Given the description of an element on the screen output the (x, y) to click on. 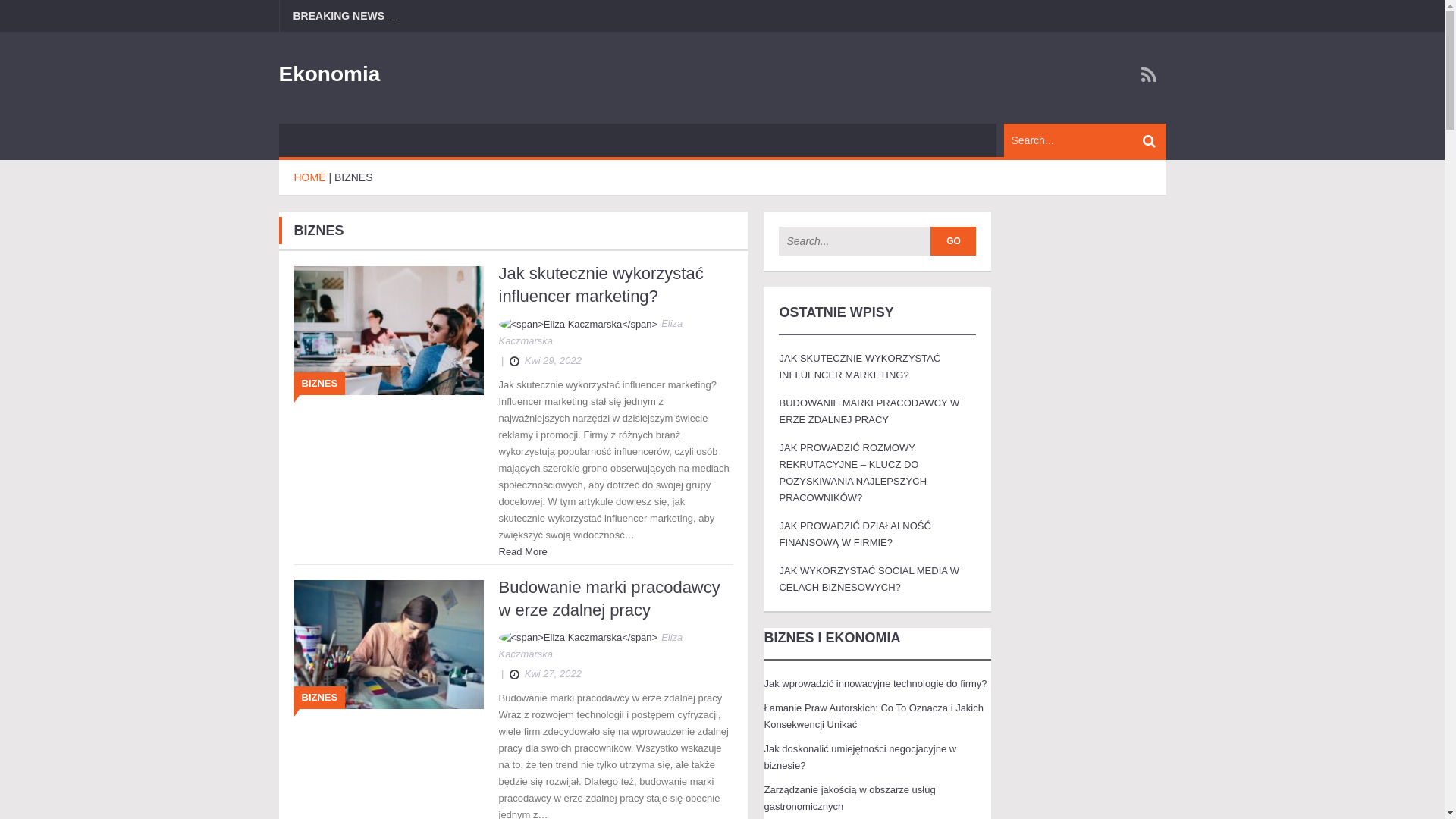
Ekonomia Element type: text (329, 73)
BIZNES Element type: text (319, 383)
Read More Element type: text (522, 551)
HOME Element type: text (310, 177)
Eliza Kaczmarska Element type: text (616, 646)
Budowanie marki pracodawcy w erze zdalnej pracy Element type: text (609, 598)
BUDOWANIE MARKI PRACODAWCY W ERZE ZDALNEJ PRACY Element type: text (868, 411)
BIZNES Element type: text (353, 177)
Budowanie marki pracodawcy w erze zdalnej pracy Element type: hover (388, 643)
Eliza Kaczmarska Element type: text (616, 332)
BIZNES Element type: text (319, 697)
